Given the description of an element on the screen output the (x, y) to click on. 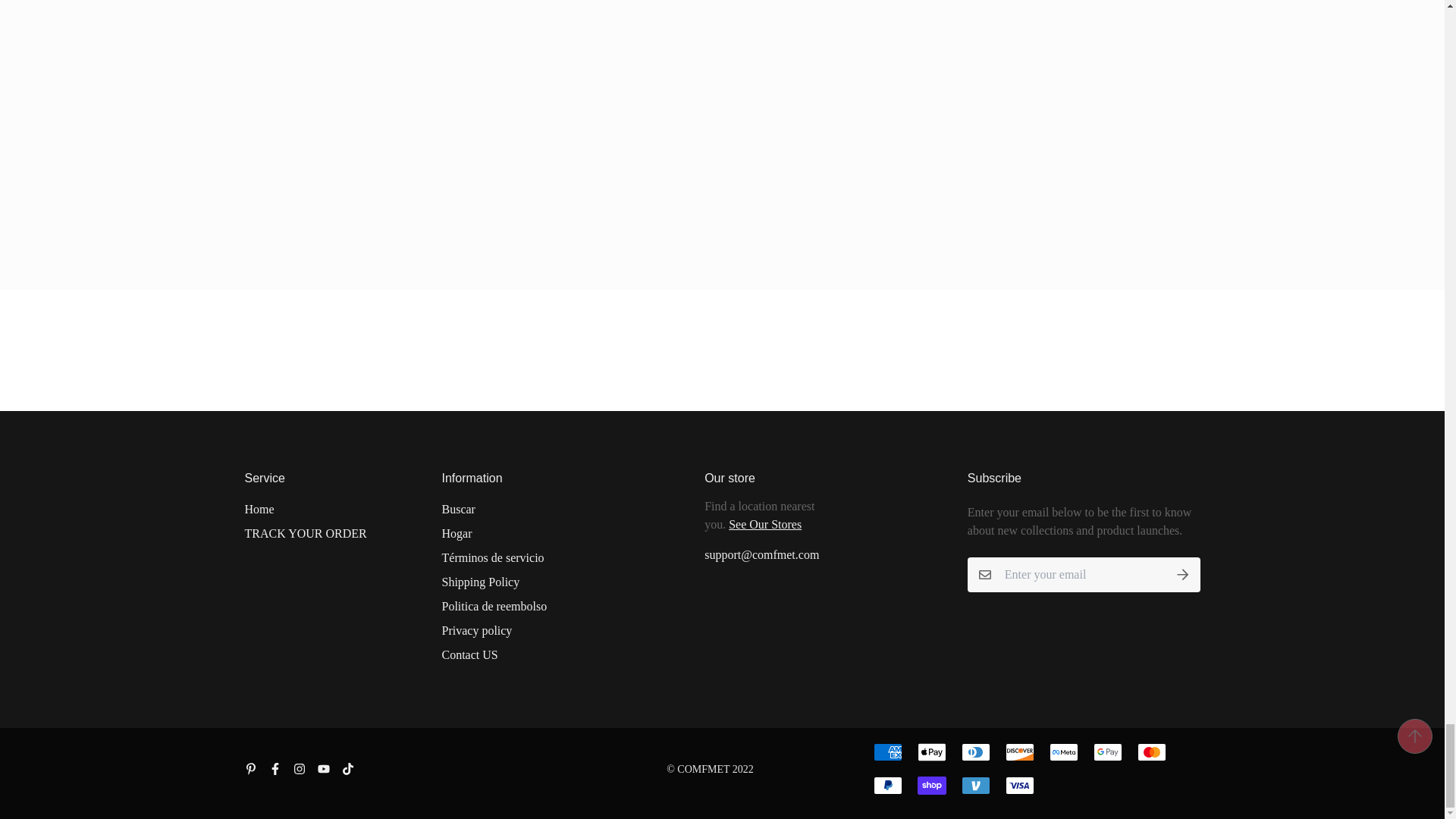
TRACK YOUR ORDER (305, 533)
Home (258, 509)
